Given the description of an element on the screen output the (x, y) to click on. 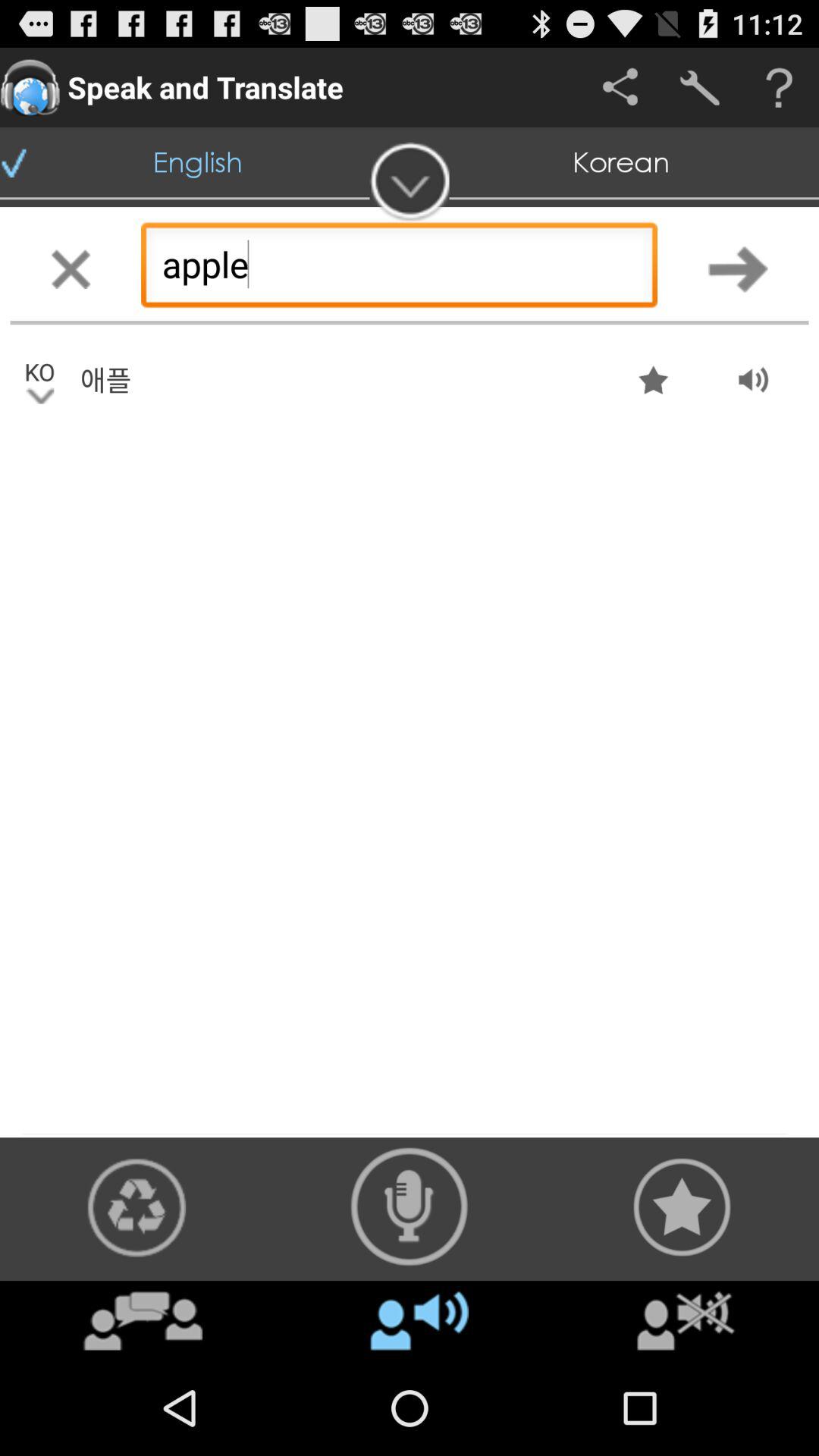
tools settings (699, 87)
